Given the description of an element on the screen output the (x, y) to click on. 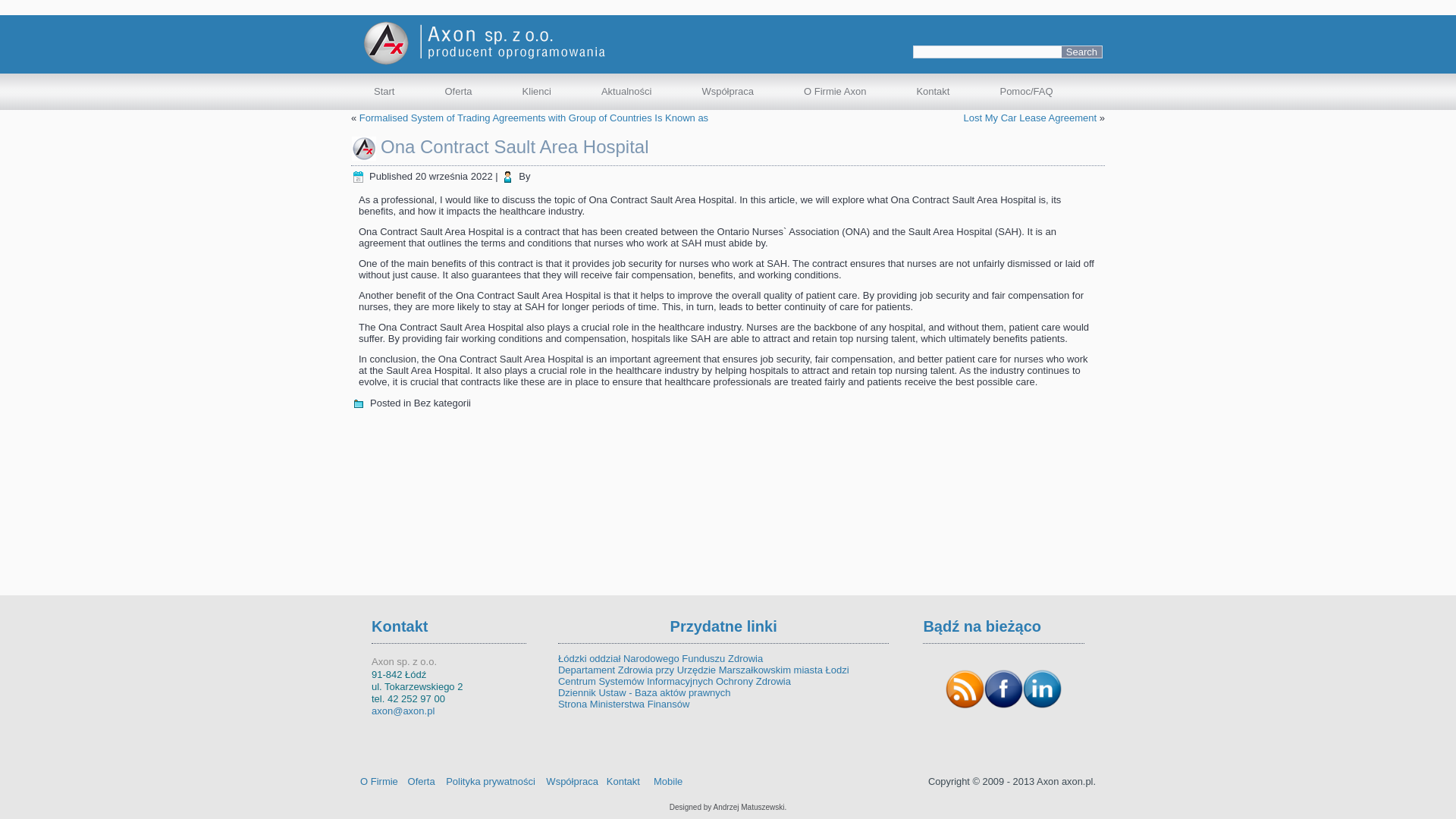
O Firmie Axon (834, 91)
O Firmie (378, 781)
Oferta (421, 781)
Start (384, 91)
Oferta (457, 91)
Oferta (457, 91)
Start (384, 91)
Lost My Car Lease Agreement (1030, 117)
Kontakt (932, 91)
Search (1081, 51)
